Given the description of an element on the screen output the (x, y) to click on. 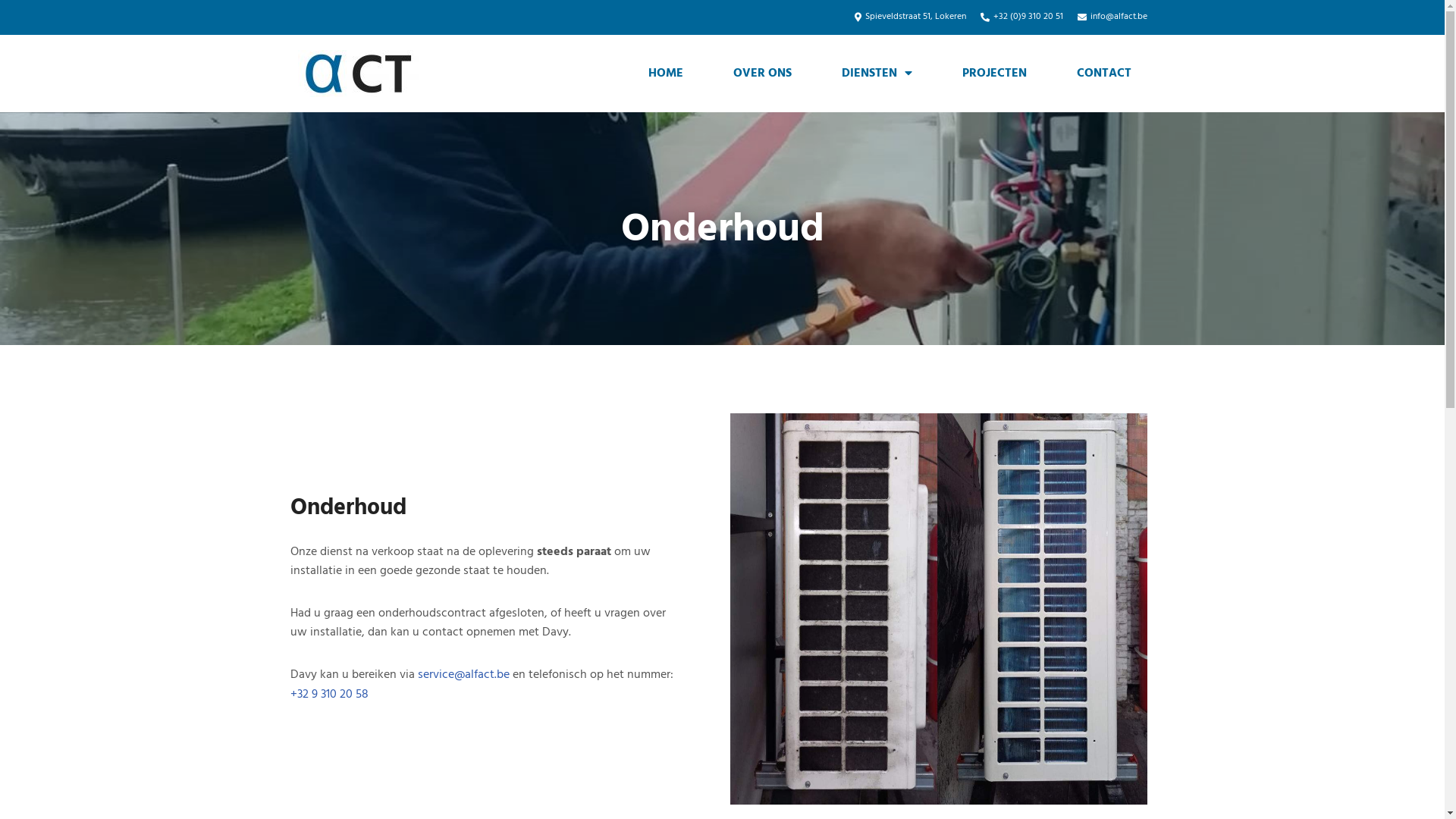
info@alfact.be Element type: text (1111, 17)
OVER ONS Element type: text (762, 73)
DIENSTEN Element type: text (876, 73)
+32 (0)9 310 20 51 Element type: text (1020, 17)
HOME Element type: text (665, 73)
logo-alfact Element type: hover (357, 73)
+32 9 310 20 58 Element type: text (328, 694)
Spring naar de inhoud Element type: text (11, 31)
PROJECTEN Element type: text (994, 73)
service@alfact.be Element type: text (462, 674)
CONTACT Element type: text (1103, 73)
